Given the description of an element on the screen output the (x, y) to click on. 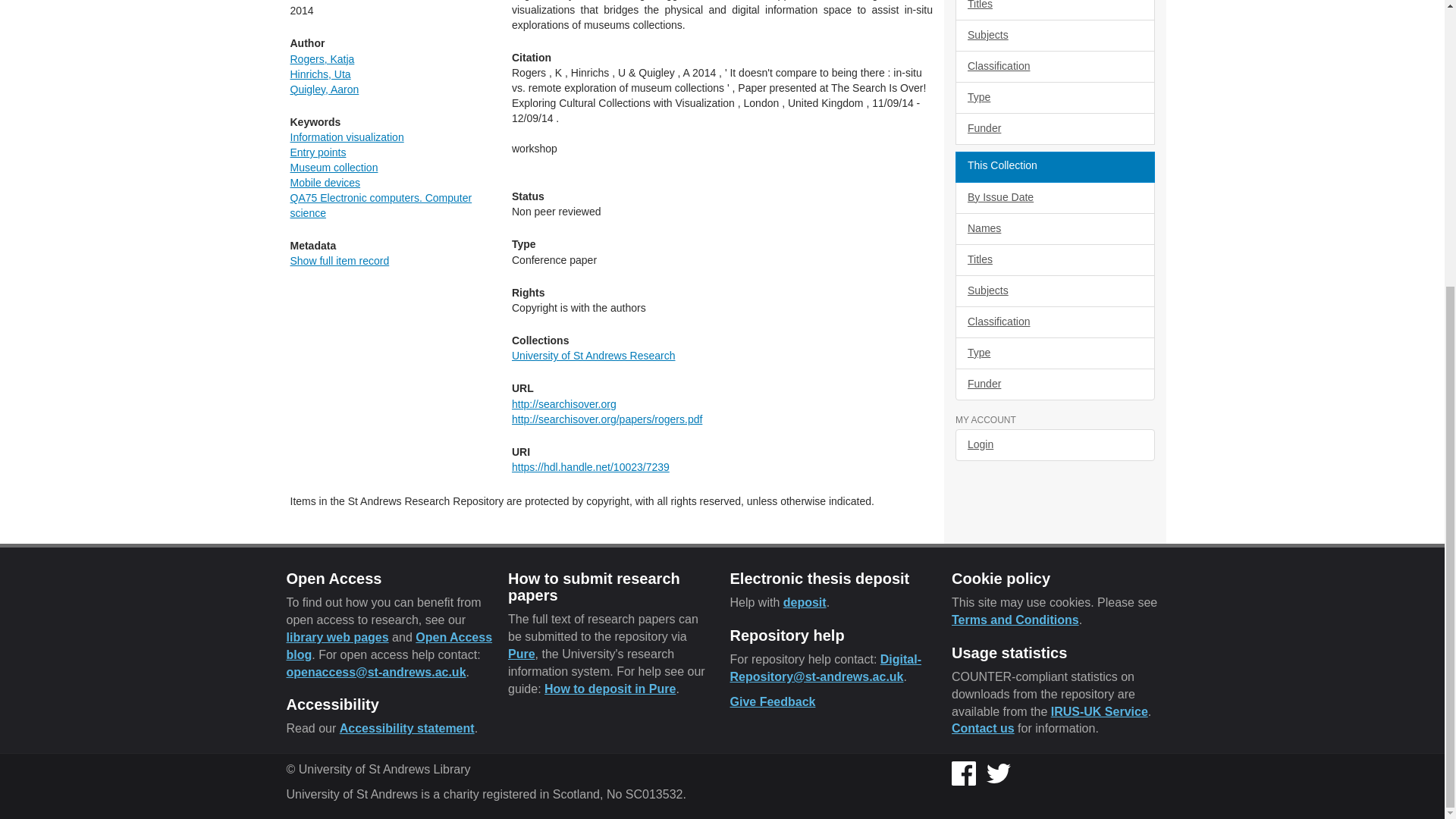
QA75 Electronic computers. Computer science (380, 205)
Terms and Conditions (1015, 619)
University of St Andrews Research (593, 355)
Hinrichs, Uta (319, 73)
Email an enquiry about IRUS-UK statistics (983, 727)
Help with electronic theses deposit (805, 602)
Quigley, Aaron (323, 89)
Pure (521, 653)
Museum collection (333, 167)
Entry points (317, 152)
Show full item record (338, 260)
Information visualization (346, 137)
Rogers, Katja (321, 59)
Accessibility statement (406, 727)
